Given the description of an element on the screen output the (x, y) to click on. 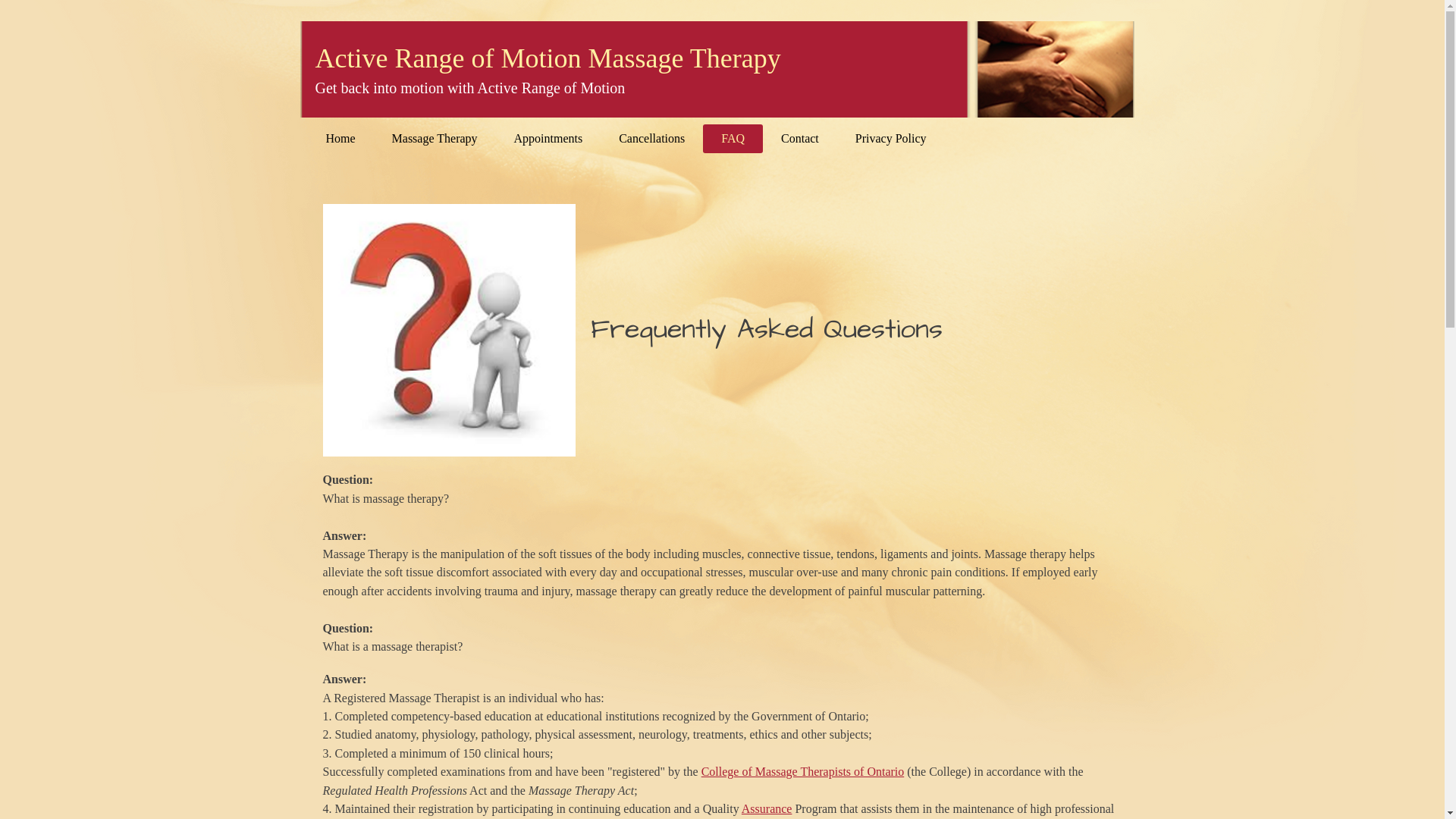
Privacy Policy Element type: text (890, 138)
Cancellations Element type: text (651, 138)
College of Massage Therapists of Ontario Element type: text (802, 771)
Assurance Element type: text (766, 808)
Massage Therapy Element type: text (434, 138)
Contact Element type: text (799, 138)
Appointments Element type: text (548, 138)
Home Element type: text (340, 138)
FAQ Element type: text (732, 138)
